Given the description of an element on the screen output the (x, y) to click on. 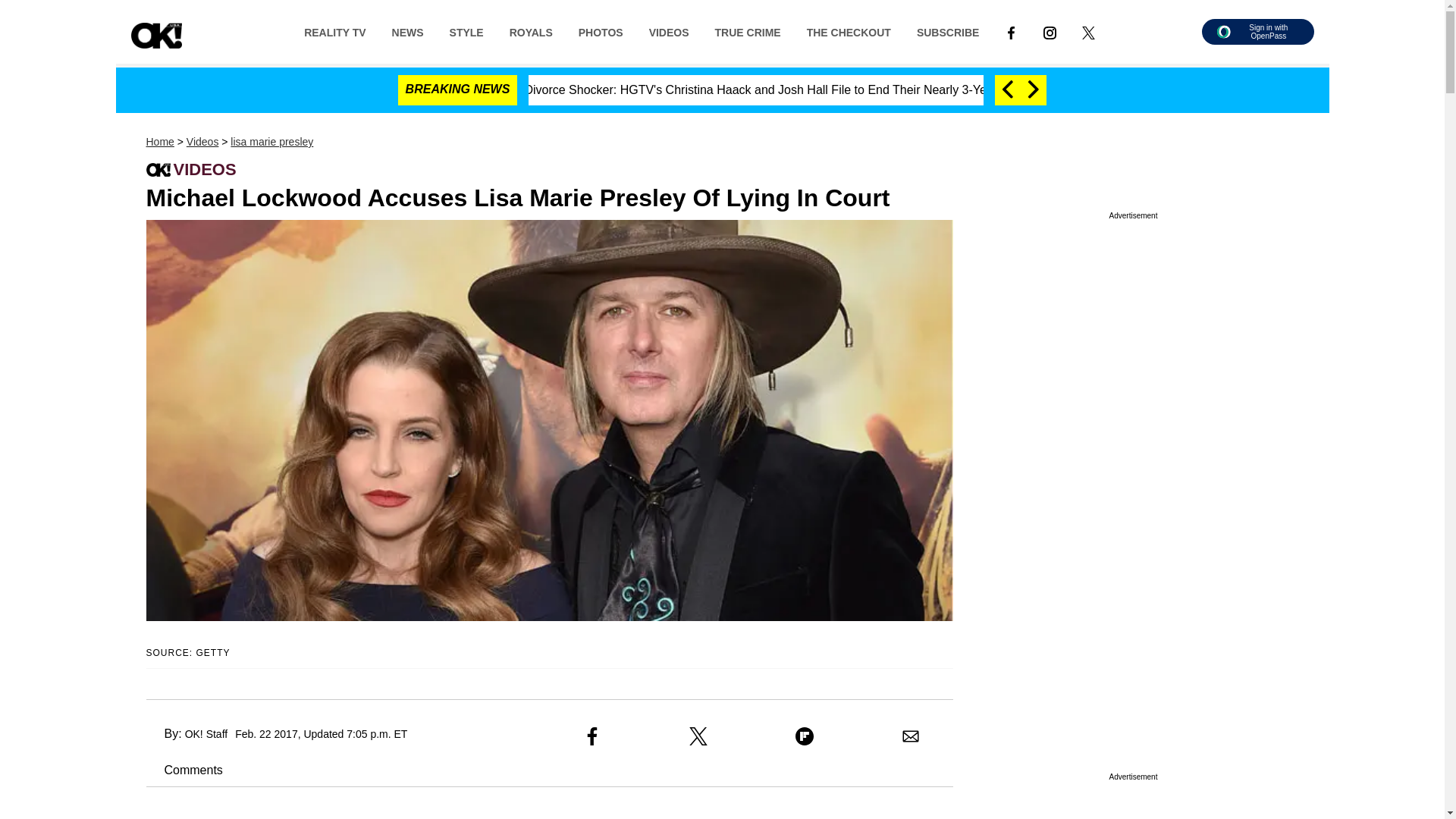
Share to X (697, 736)
ROYALS (531, 31)
LINK TO X (1087, 32)
lisa marie presley (271, 141)
Share to Email (909, 736)
Videos (202, 141)
Sign in with OpenPass (1257, 31)
Comments (183, 769)
Link to Instagram (1049, 31)
3rd party ad content (1132, 362)
REALITY TV (334, 31)
PHOTOS (601, 31)
STYLE (466, 31)
LINK TO INSTAGRAM (1050, 32)
